Given the description of an element on the screen output the (x, y) to click on. 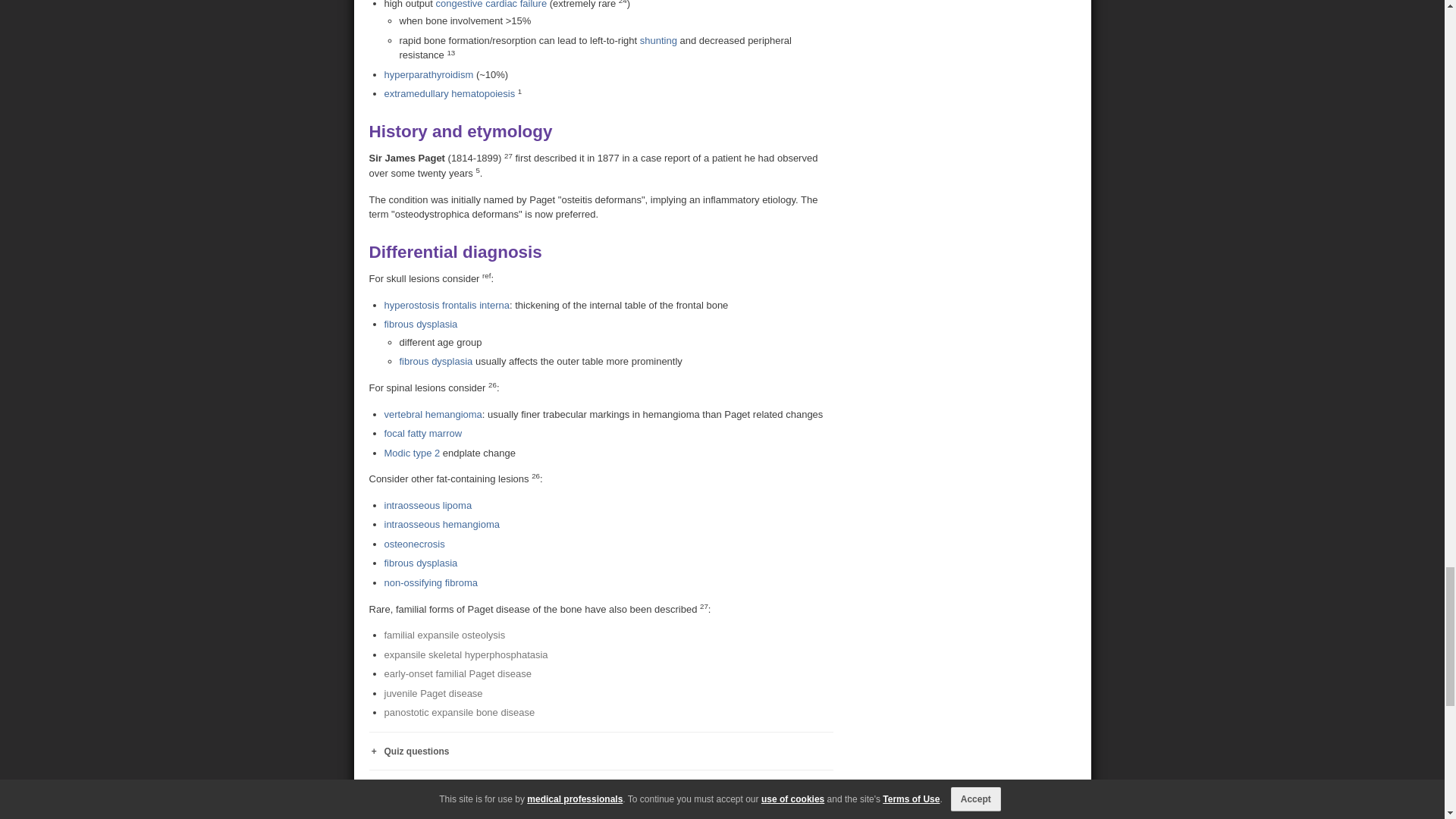
panostotic expansile bone disease (459, 712)
juvenile Paget disease (432, 693)
familial expansile osteolysis (444, 634)
expansile skeletal hyperphosphatasia (465, 654)
Early onset familial Paget disease (457, 673)
